Given the description of an element on the screen output the (x, y) to click on. 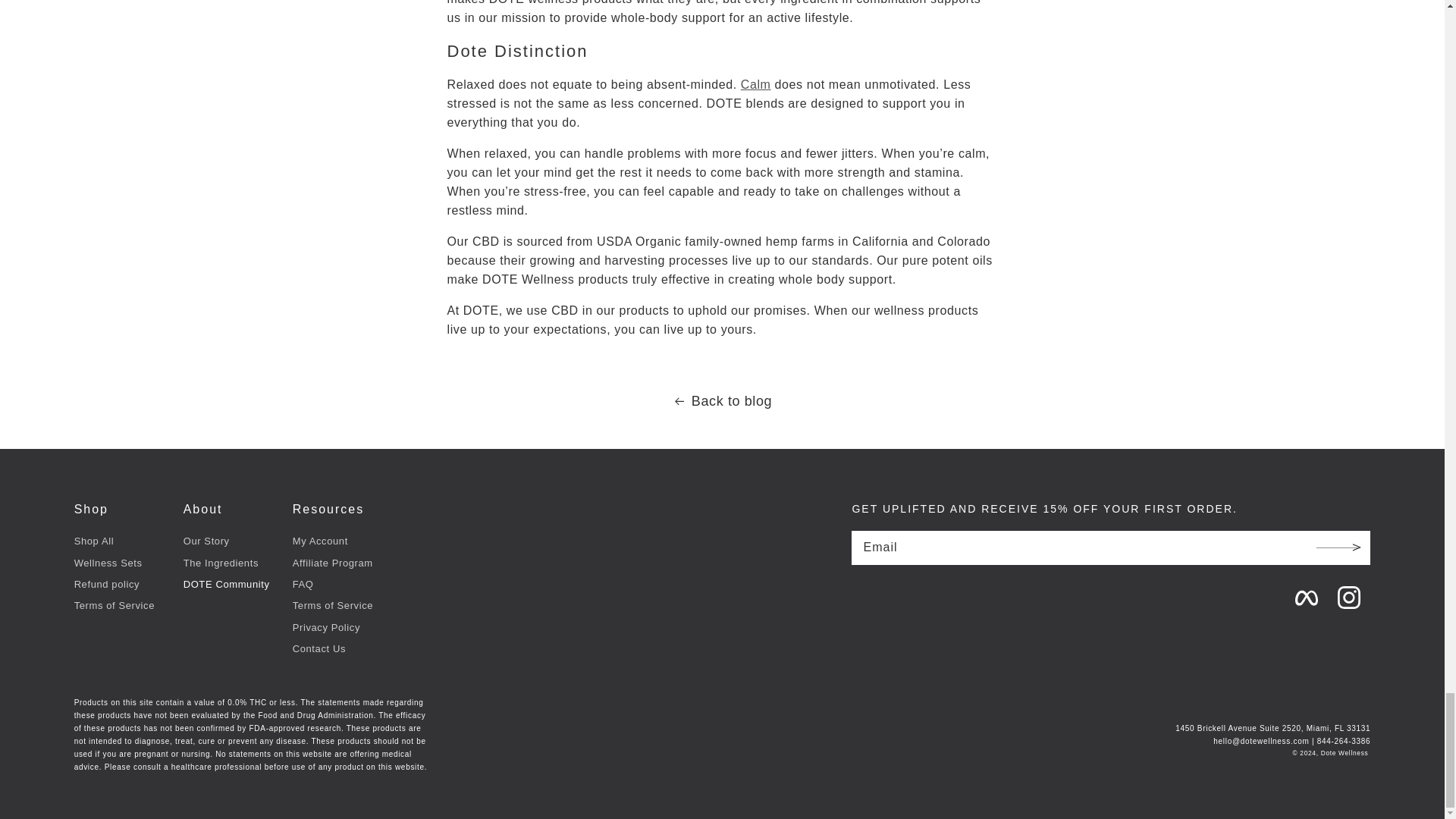
Contact Us (319, 646)
Refund policy (106, 581)
My Account (319, 540)
FAQ (303, 581)
Shop All (94, 540)
DOTE Community (226, 581)
Affiliate Program (332, 560)
Wellness Sets (108, 560)
Terms of Service (114, 603)
The Ingredients (221, 560)
